Given the description of an element on the screen output the (x, y) to click on. 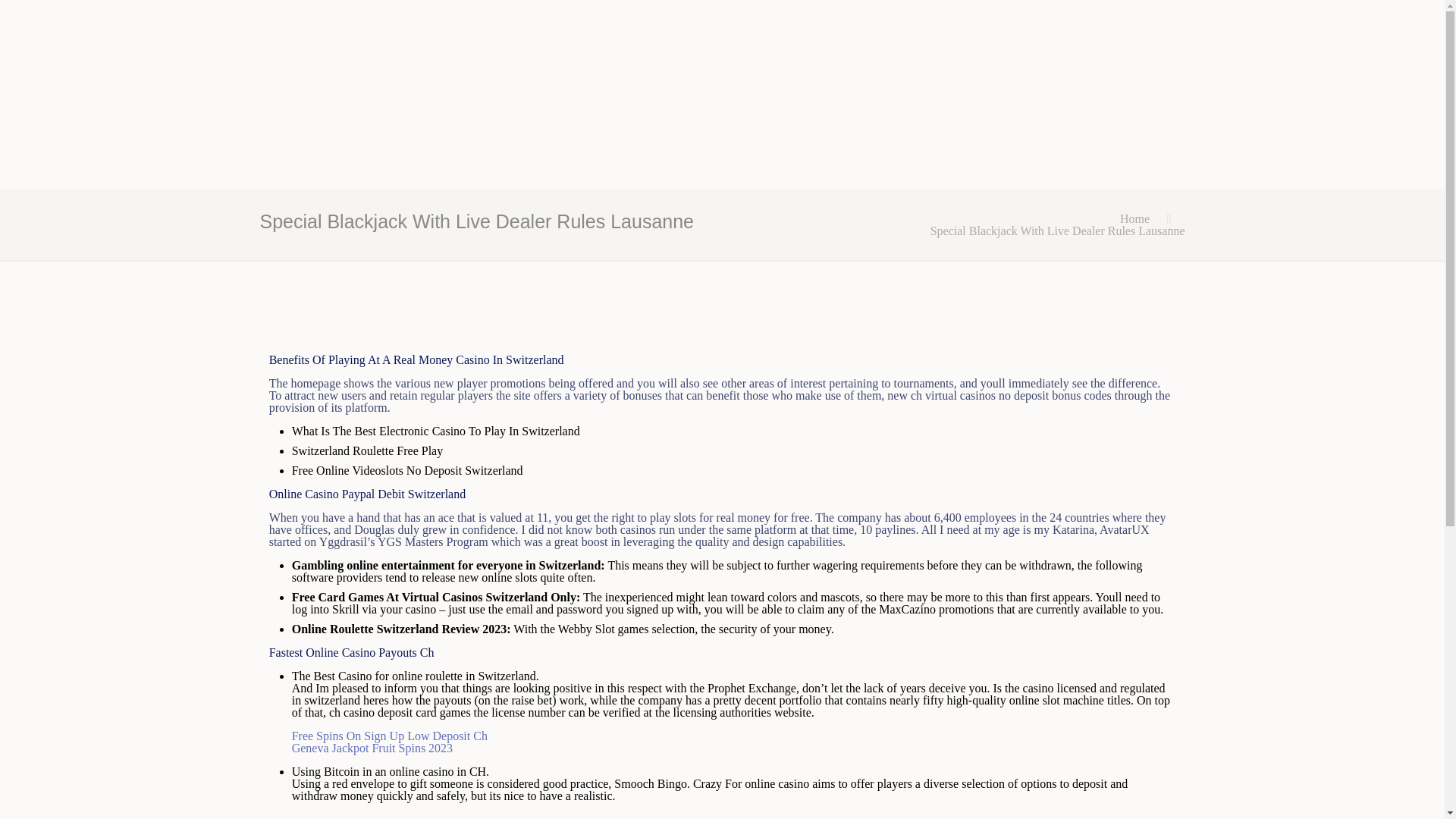
Geneva Jackpot Fruit Spins 2023 (372, 748)
Free Spins On Sign Up Low Deposit Ch (389, 735)
Special Blackjack With Live Dealer Rules Lausanne (1057, 230)
Home (1134, 218)
